Given the description of an element on the screen output the (x, y) to click on. 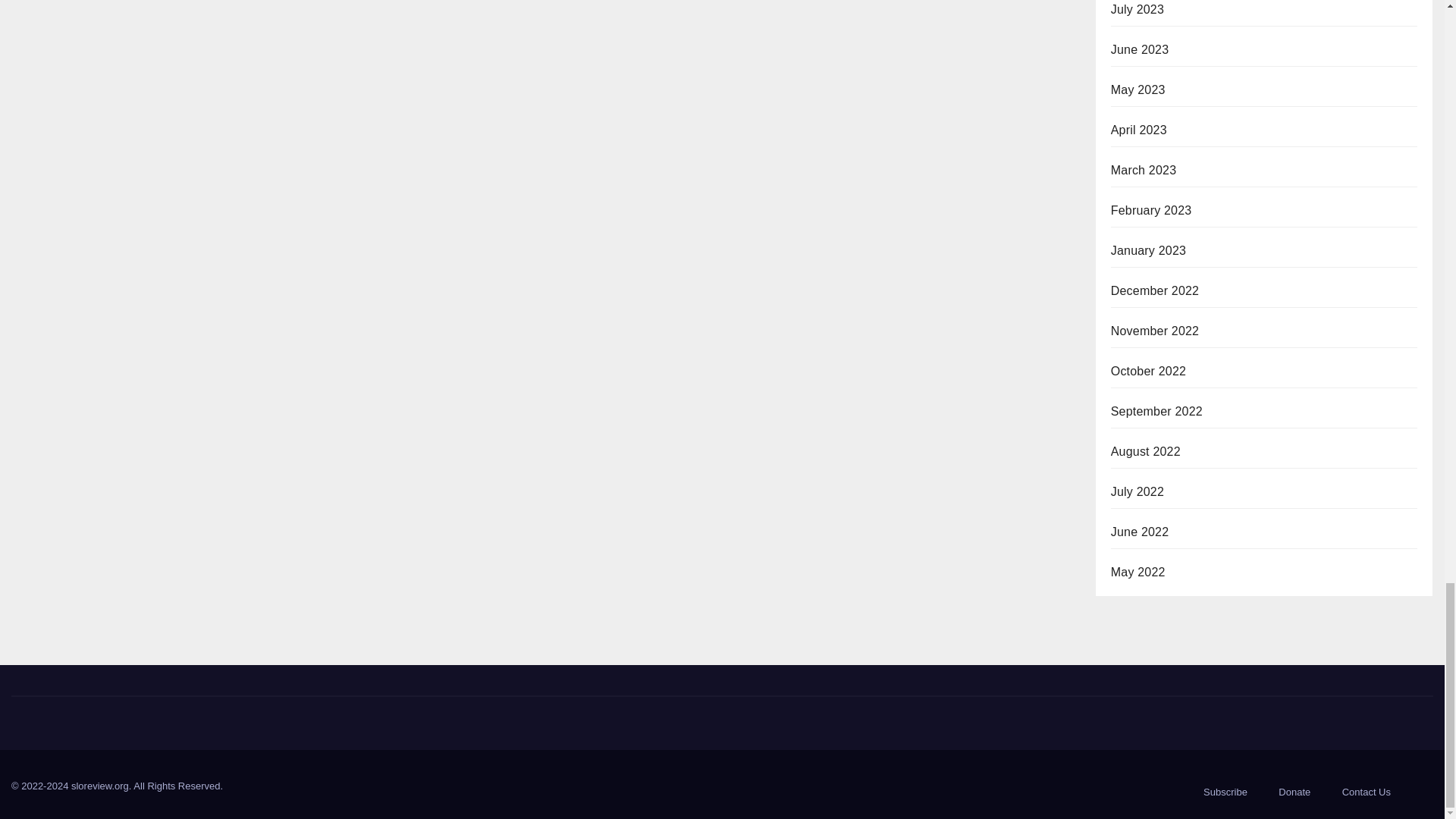
Subscribe (1225, 791)
Donate (1294, 791)
Contact Us (1366, 791)
